Given the description of an element on the screen output the (x, y) to click on. 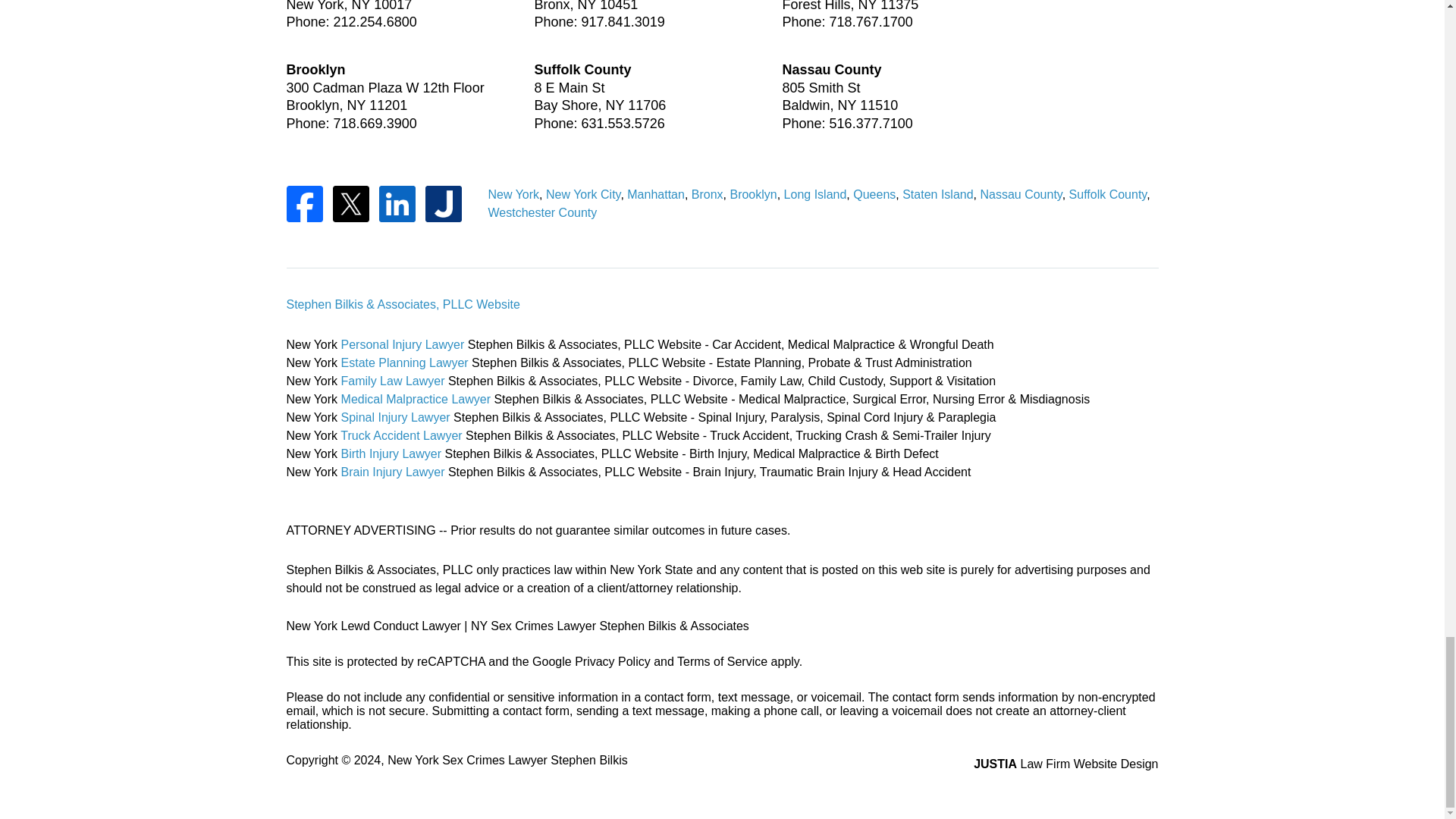
Twitter (349, 203)
Facebook (304, 203)
Justia (443, 203)
LinkedIn (396, 203)
